Given the description of an element on the screen output the (x, y) to click on. 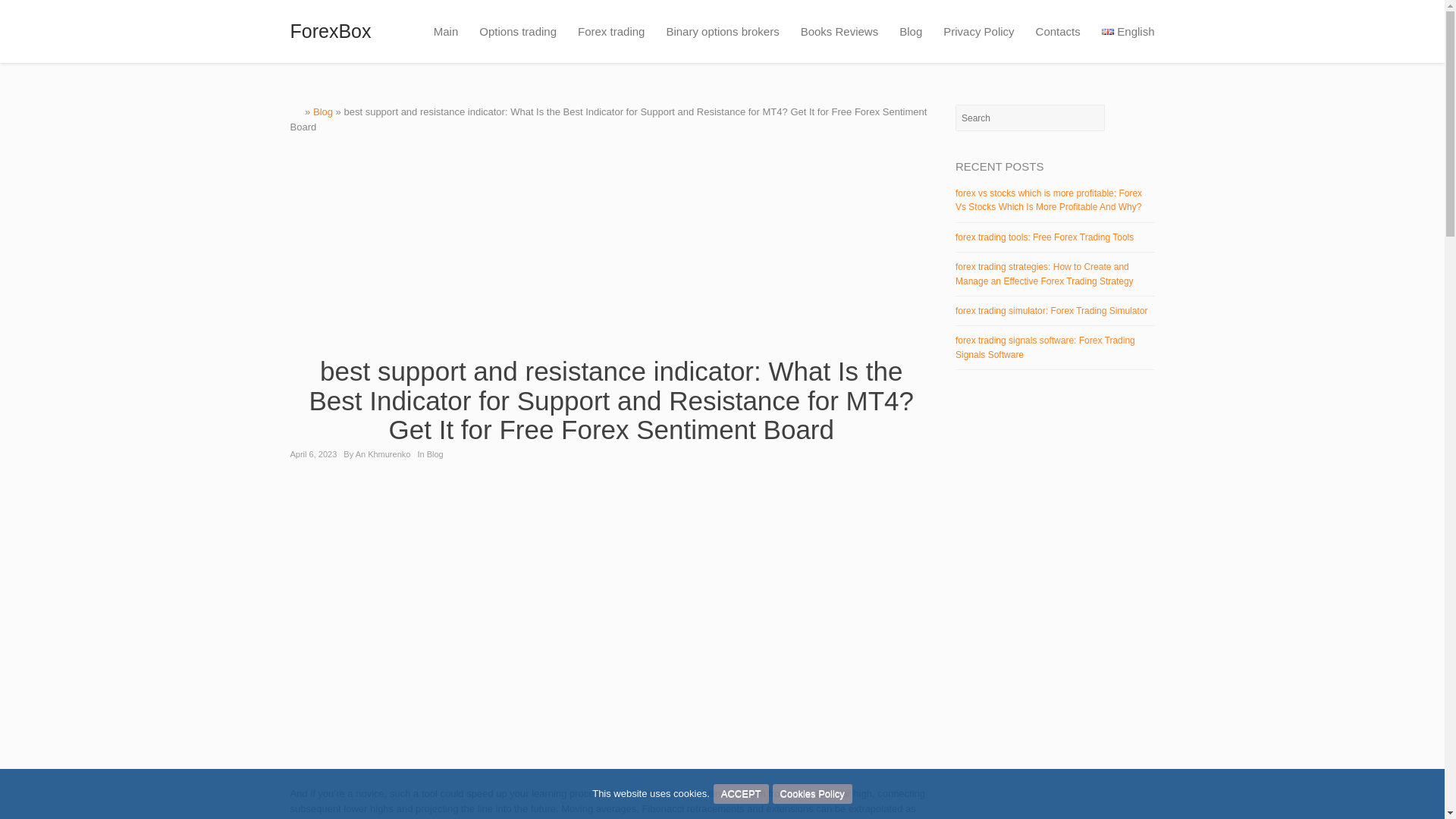
Books Reviews (839, 31)
forex trading simulator: Forex Trading Simulator (1051, 310)
Options trading (517, 31)
Binary options brokers (722, 31)
Blog (435, 453)
Cookies Policy (812, 793)
forex trading tools: Free Forex Trading Tools (1044, 236)
Posts by An Khmurenko (382, 453)
English (1122, 31)
Forex trading (611, 31)
Contacts (1057, 31)
An Khmurenko (382, 453)
